Given the description of an element on the screen output the (x, y) to click on. 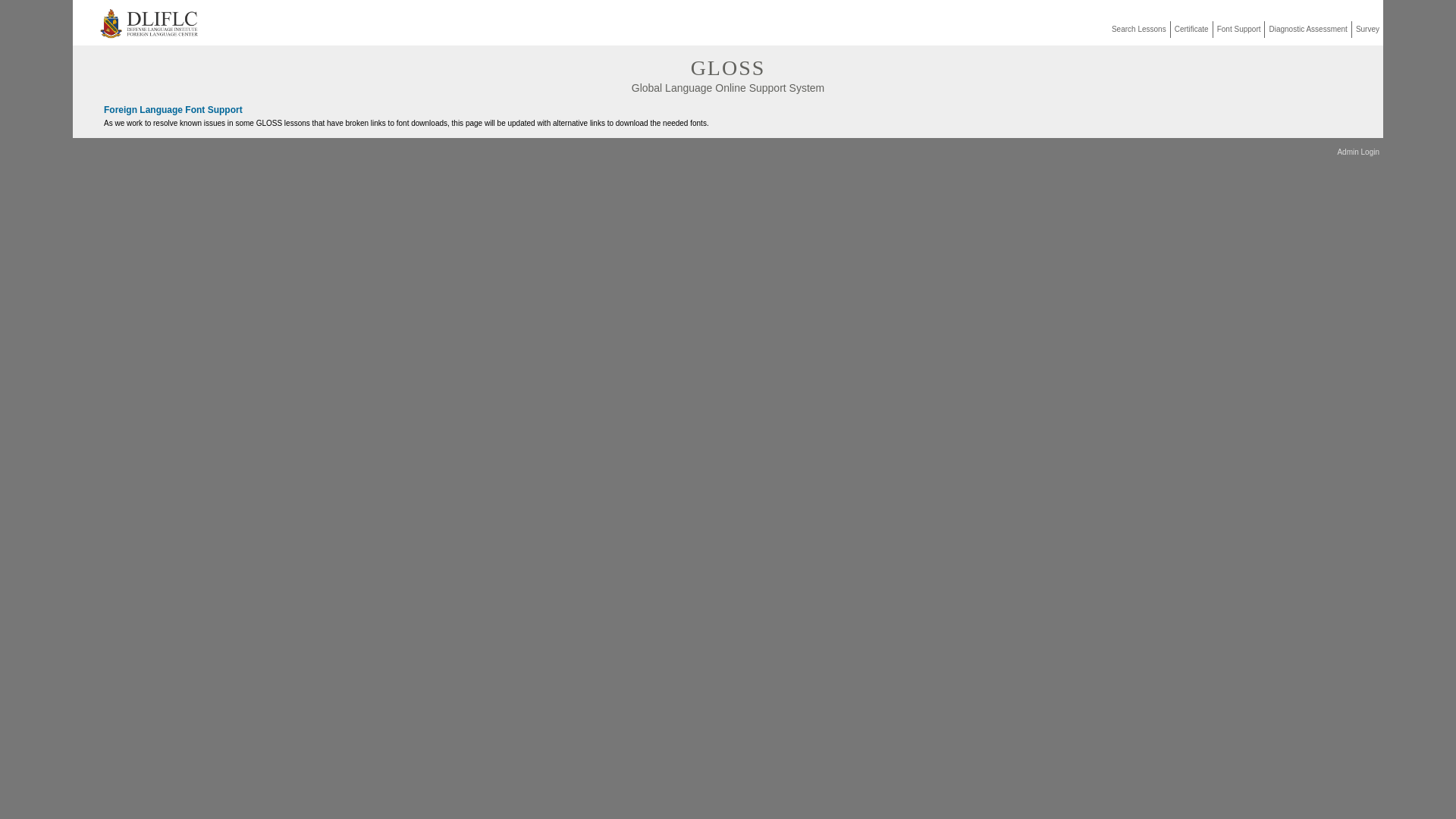
Search Lessons (1139, 29)
Certificate (1191, 29)
Font Support (1238, 29)
Survey (1367, 29)
Diagnostic Assessment (1308, 29)
